Given the description of an element on the screen output the (x, y) to click on. 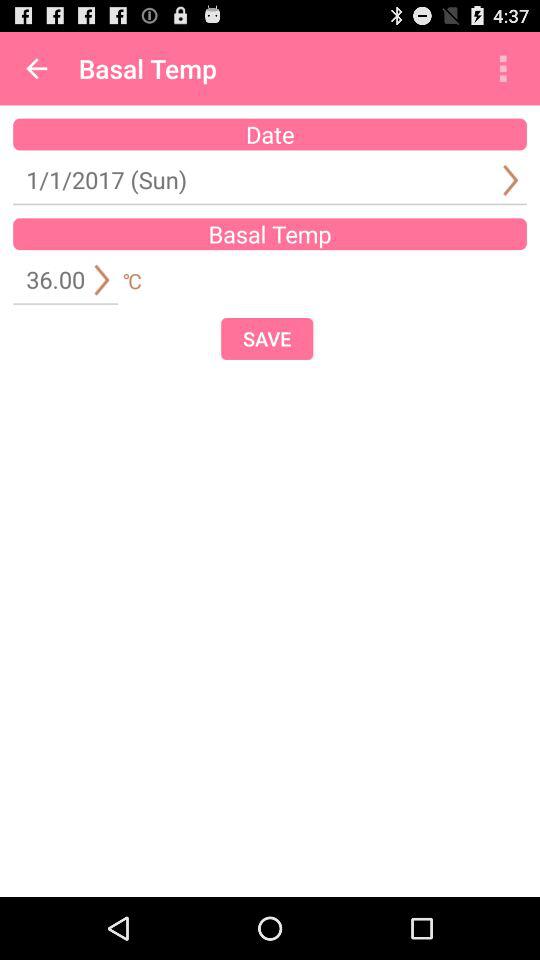
jump to the save item (267, 338)
